Given the description of an element on the screen output the (x, y) to click on. 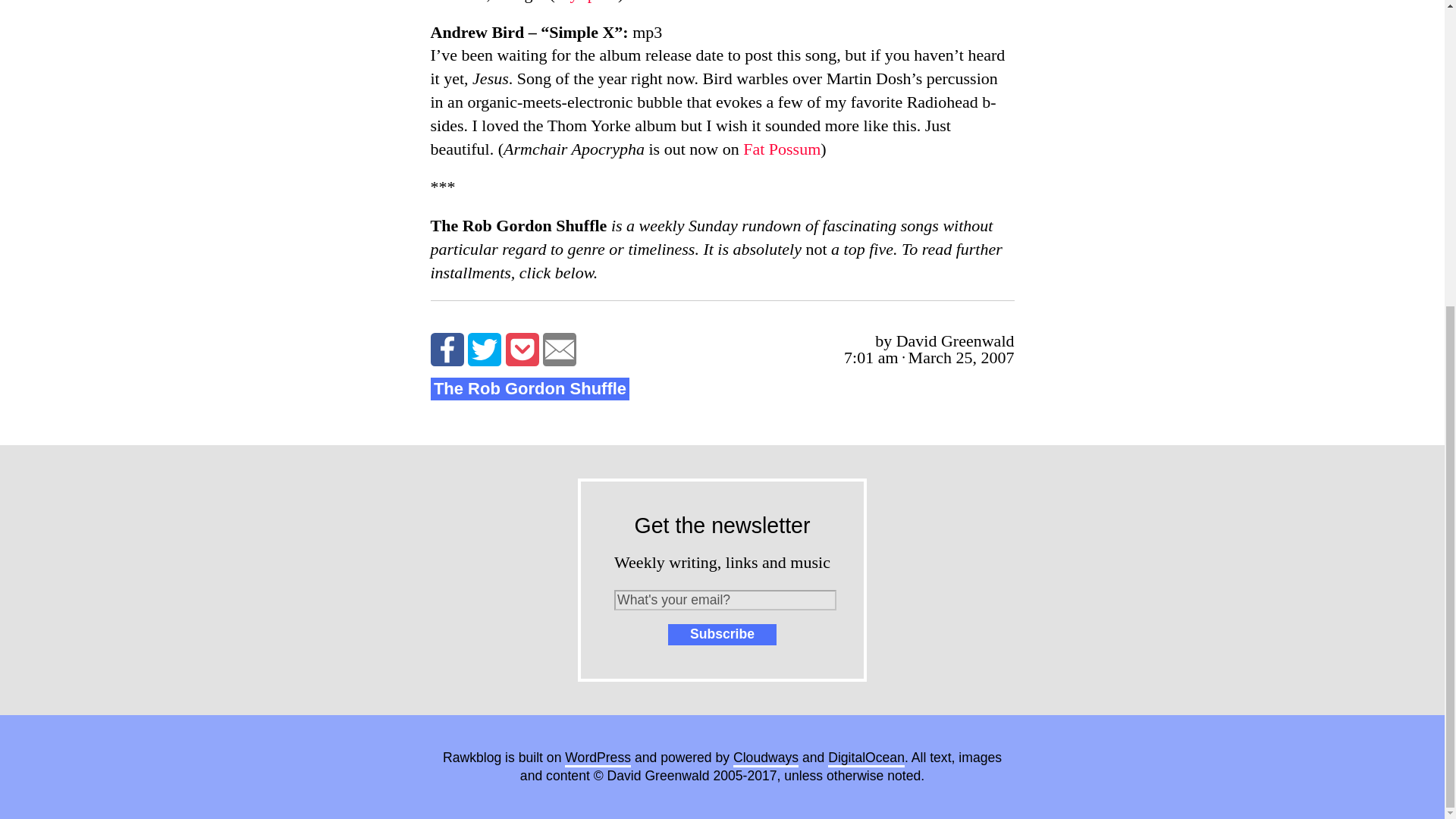
What's your email? (724, 599)
Save to Pocket (521, 349)
Fat Possum (781, 148)
Subscribe (722, 634)
Email to a friend (559, 349)
The Rob Gordon Shuffle (530, 389)
Cloudways (765, 758)
Share on Facebook (447, 349)
MySpace (585, 1)
Subscribe (722, 634)
WordPress (597, 758)
DigitalOcean (866, 758)
Share on Twitter (483, 349)
